Given the description of an element on the screen output the (x, y) to click on. 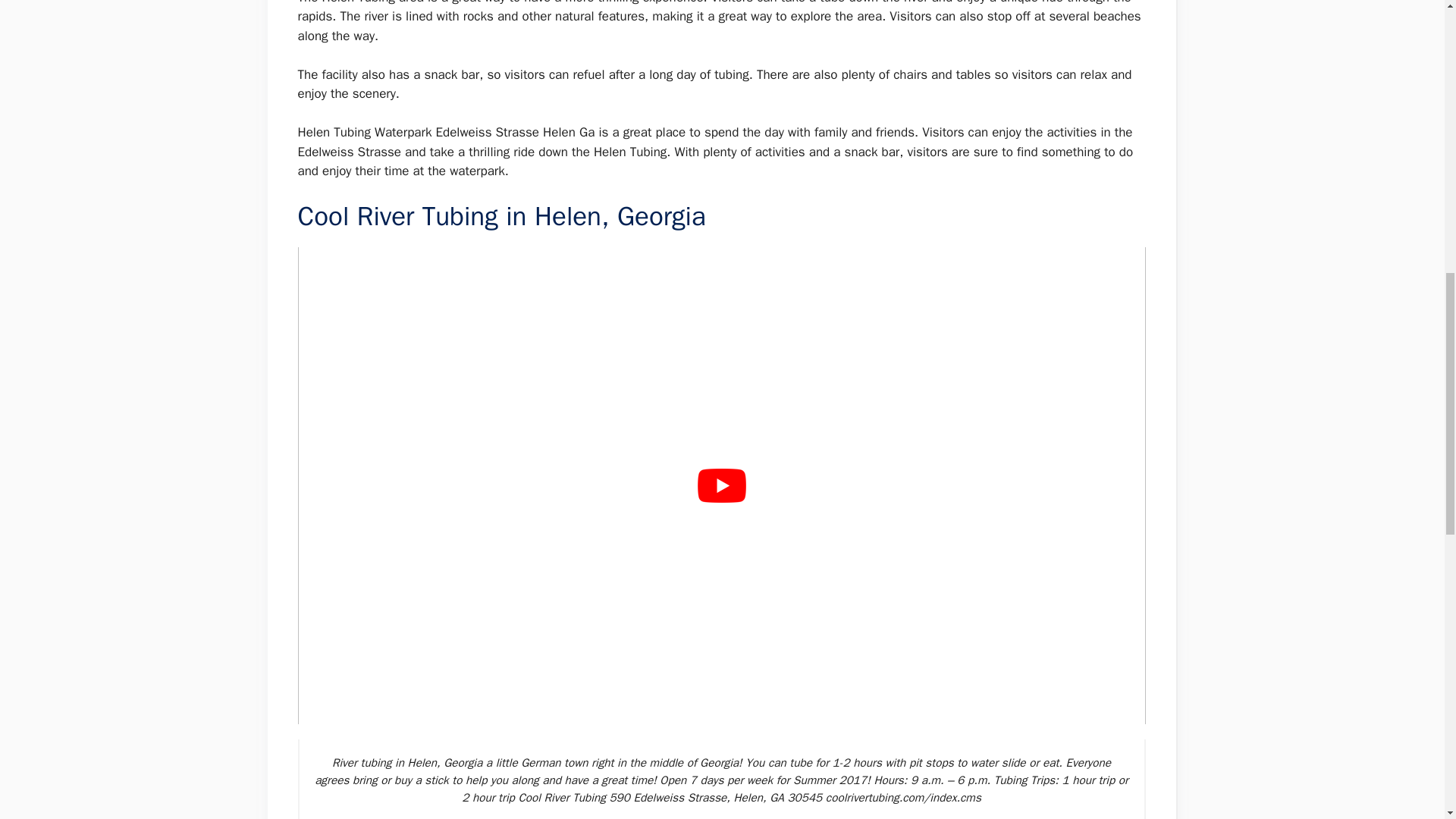
Scroll back to top (1406, 720)
